Given the description of an element on the screen output the (x, y) to click on. 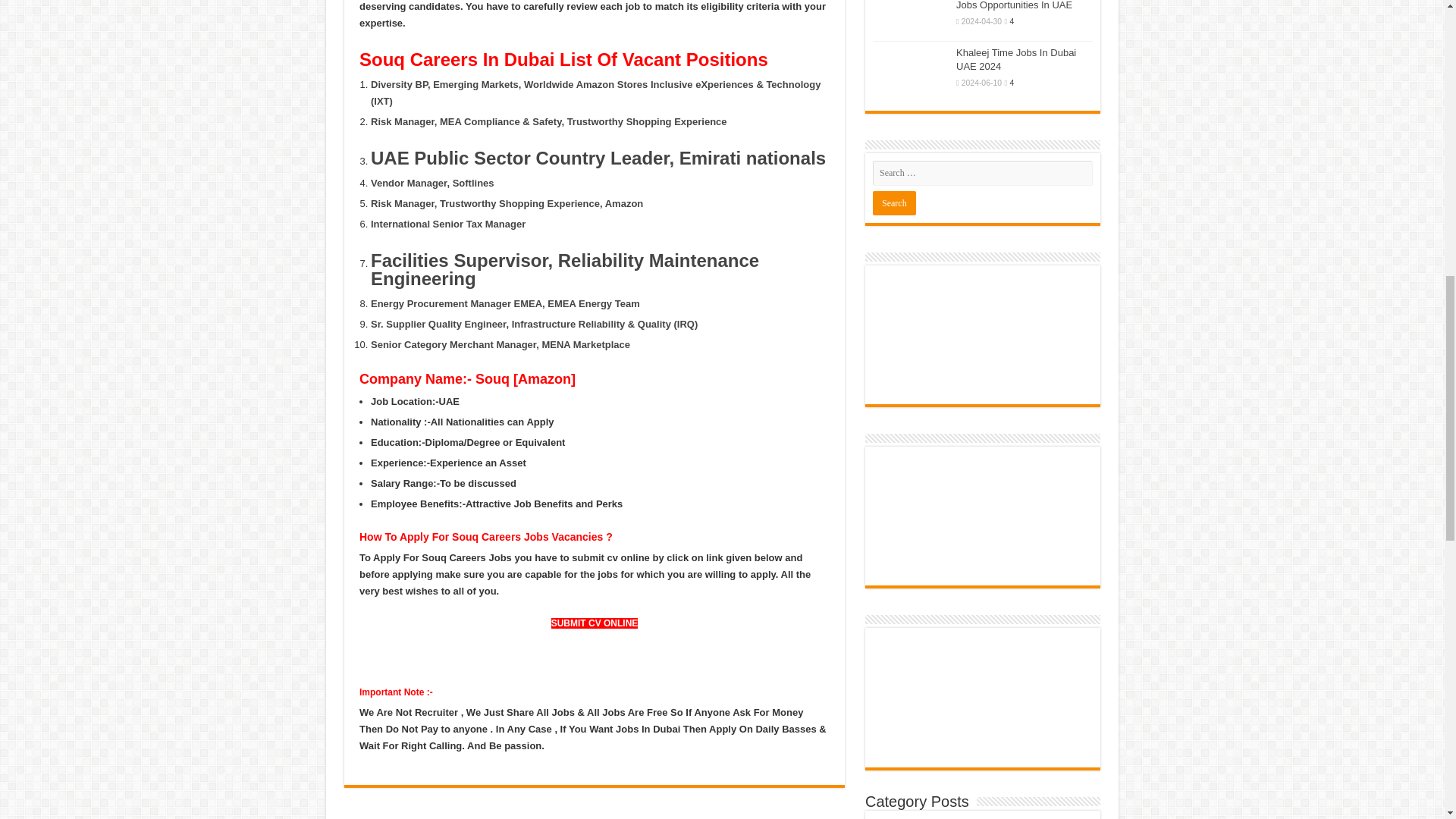
Senior Category Merchant Manager, MENA Marketplace (500, 344)
UAE Public Sector Country Leader, Emirati nationals (598, 158)
Vendor Manager, Softlines (433, 183)
Risk Manager, Trustworthy Shopping Experience, Amazon (507, 203)
Facilities Supervisor, Reliability Maintenance Engineering (564, 269)
SUBMIT CV ONLINE (595, 623)
International Senior Tax Manager (448, 224)
Search (893, 202)
Energy Procurement Manager EMEA, EMEA Energy Team (505, 303)
Search (893, 202)
